Given the description of an element on the screen output the (x, y) to click on. 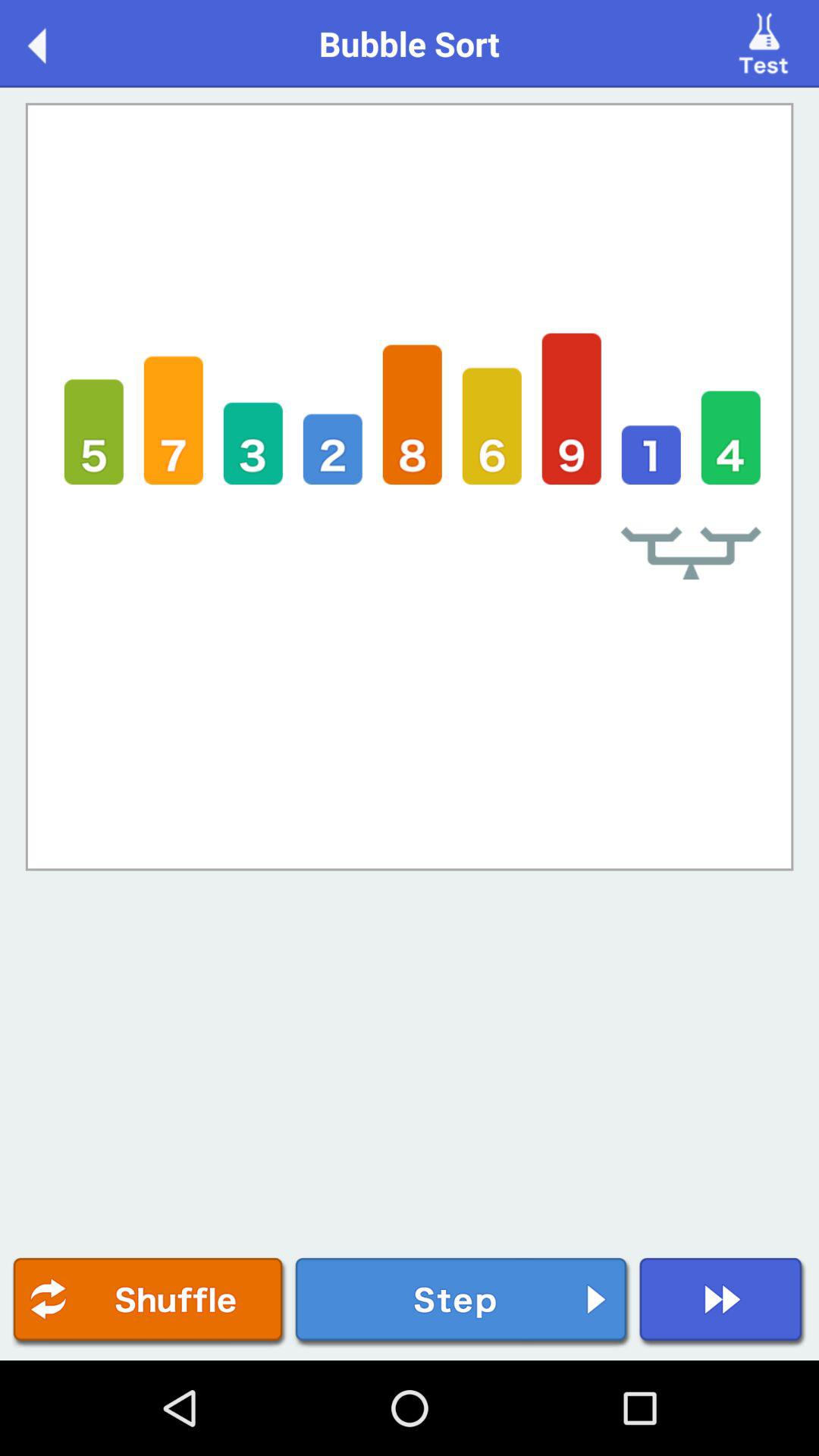
shuffle (149, 1302)
